Given the description of an element on the screen output the (x, y) to click on. 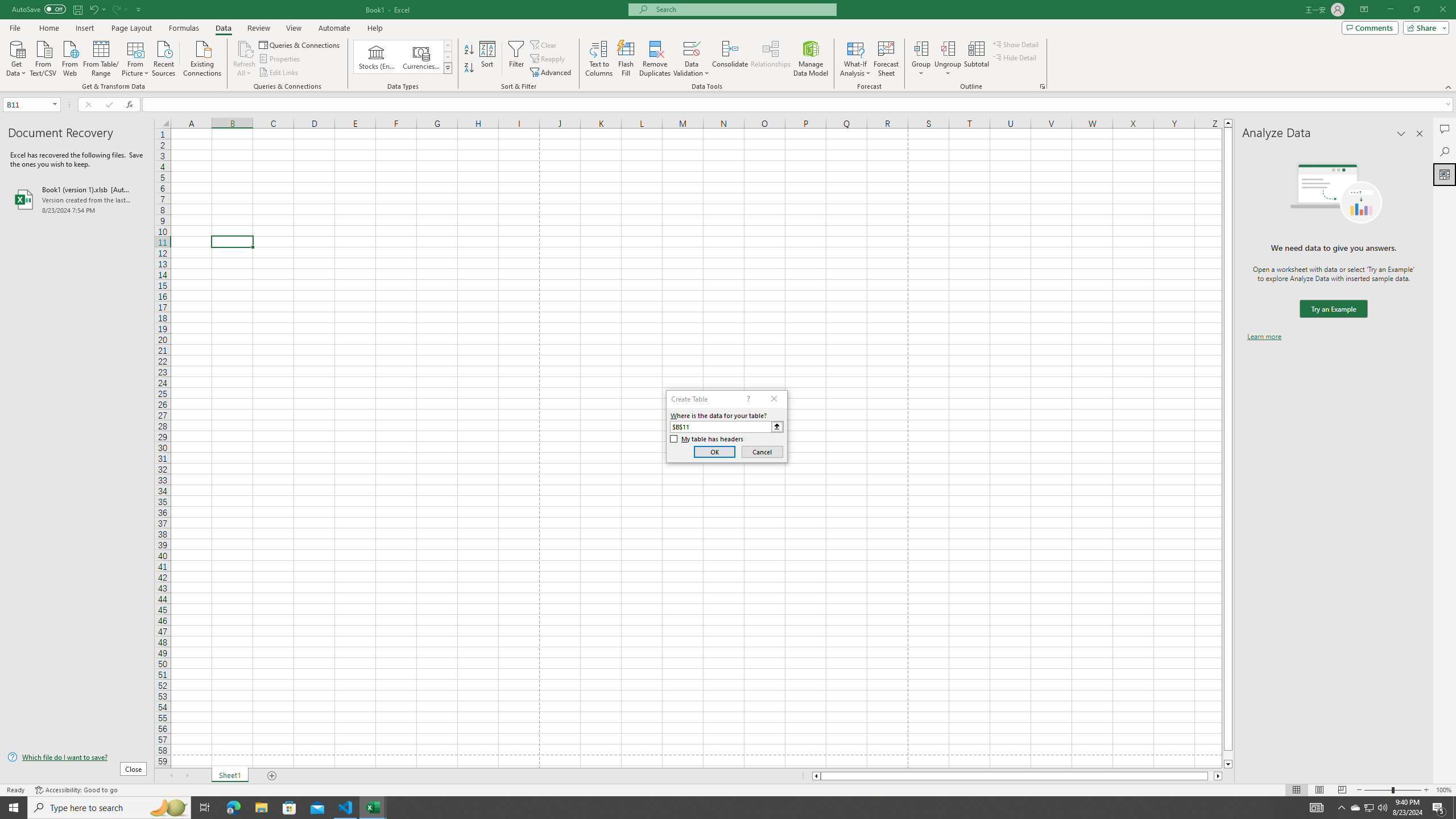
Reapply (548, 58)
Sort A to Z (469, 49)
Text to Columns... (598, 58)
Class: MsoCommandBar (728, 45)
